Given the description of an element on the screen output the (x, y) to click on. 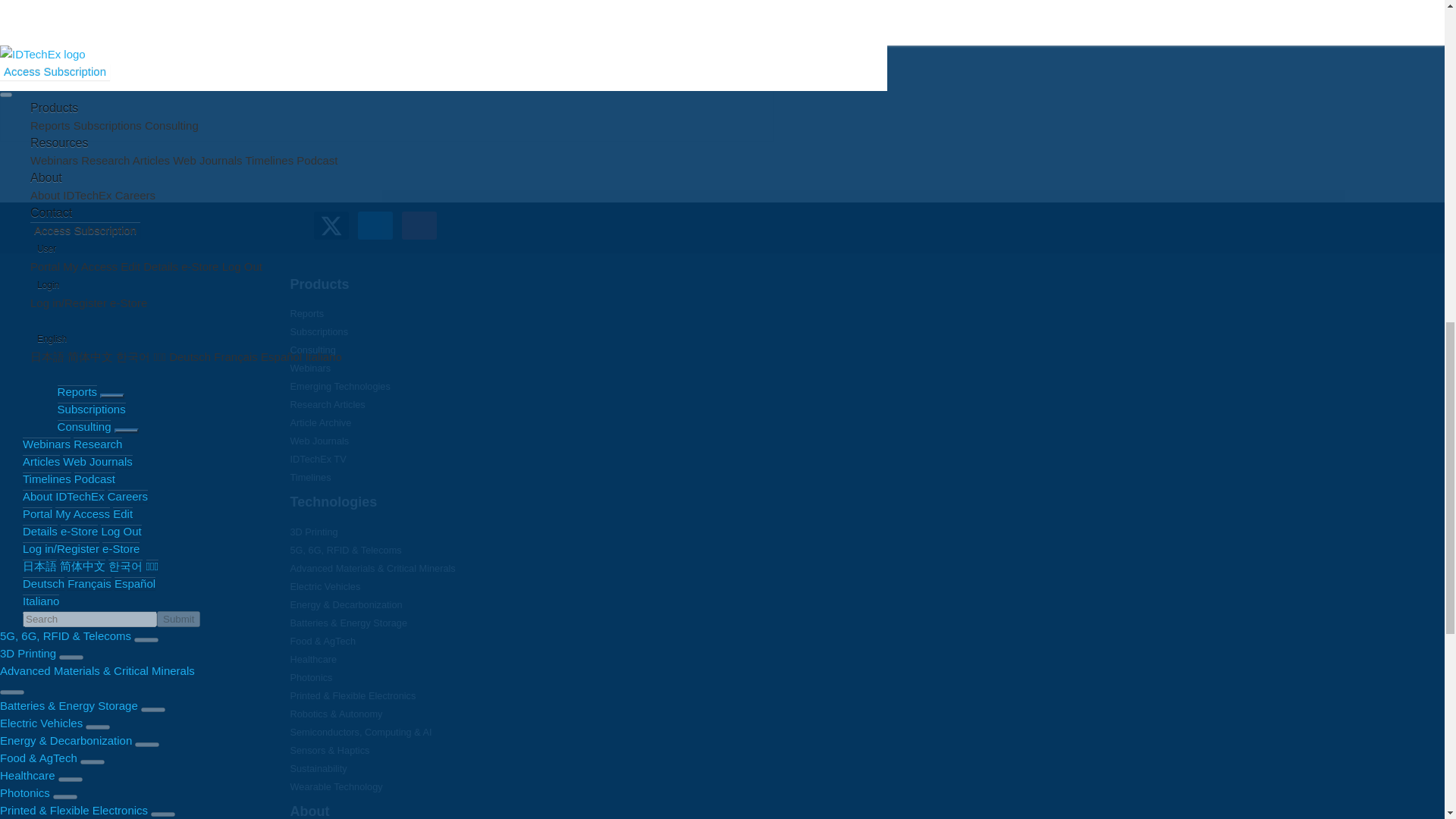
Webinars (309, 367)
IDTechEx TV (317, 459)
Subscriptions (318, 331)
3D Printing (313, 531)
Electric Vehicles (324, 586)
Consulting (311, 349)
Web Journals (319, 440)
Reports (306, 313)
Emerging Technologies (339, 386)
Article Archive (319, 422)
Timelines (309, 477)
Healthcare (312, 659)
Research Articles (327, 404)
Photonics (310, 677)
